Given the description of an element on the screen output the (x, y) to click on. 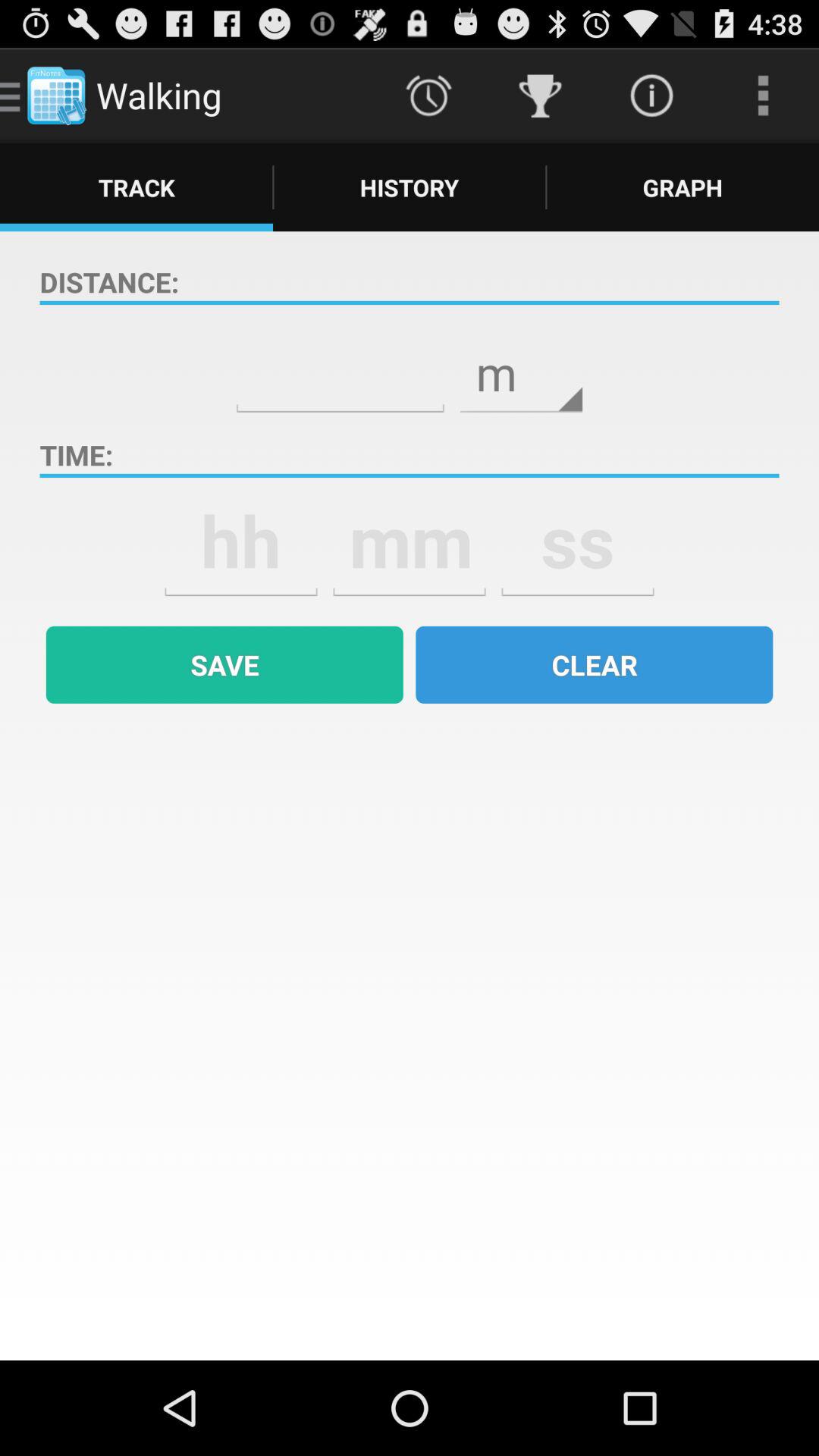
hour (240, 540)
